Given the description of an element on the screen output the (x, y) to click on. 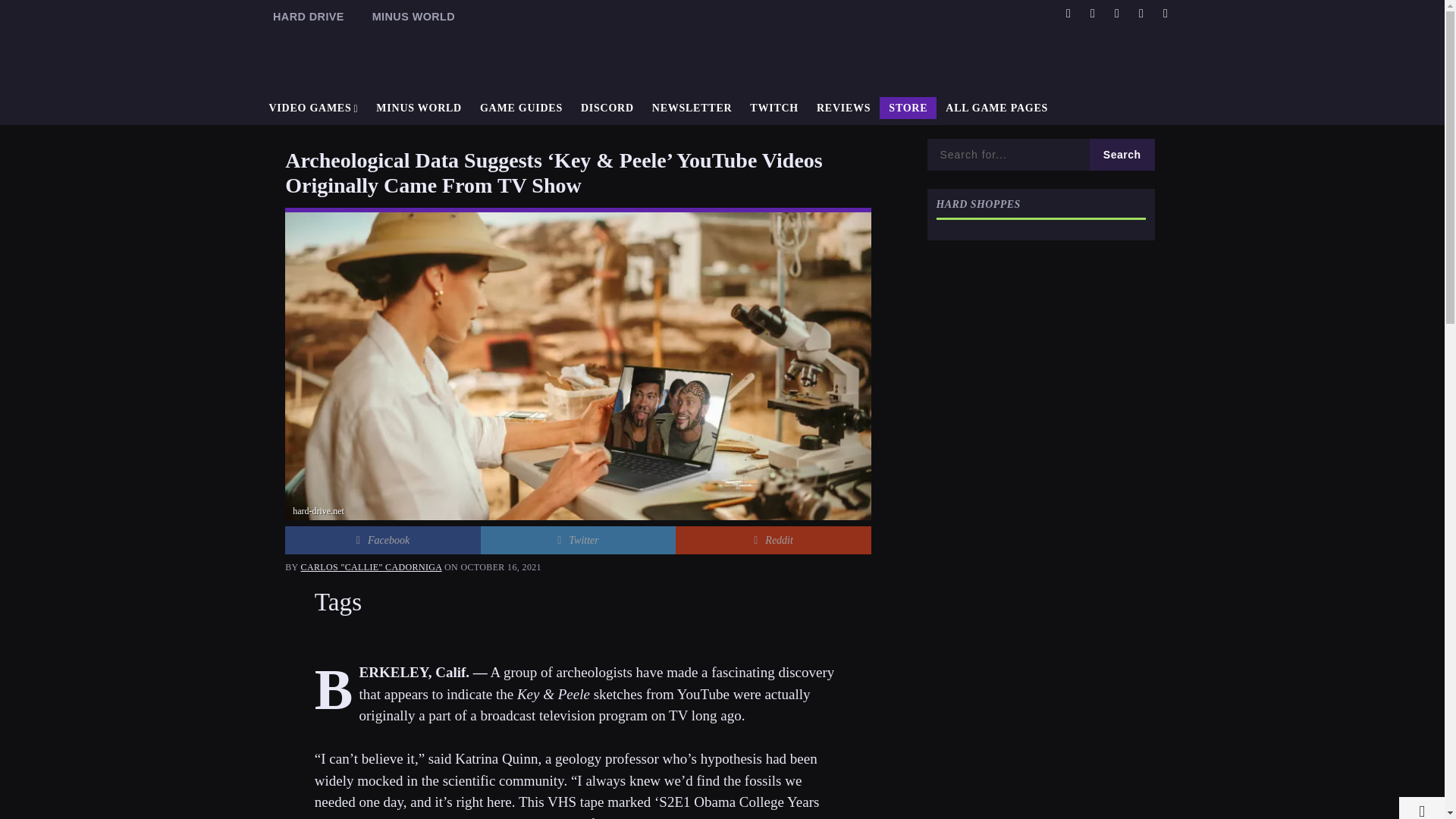
TWITCH (774, 107)
DISCORD (607, 107)
MINUS WORLD (418, 107)
NEWSLETTER (692, 107)
Posts by Carlos "Callie" Cadorniga (371, 566)
HARD DRIVE (308, 17)
Search (1121, 154)
Search (1121, 154)
Search (1121, 154)
GAME GUIDES (521, 107)
